Given the description of an element on the screen output the (x, y) to click on. 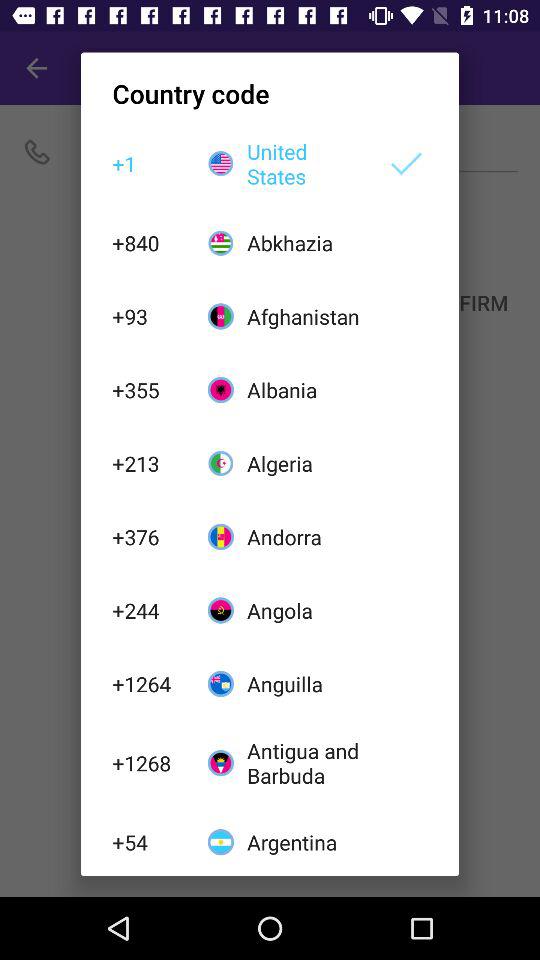
tap the item above the andorra (305, 463)
